Given the description of an element on the screen output the (x, y) to click on. 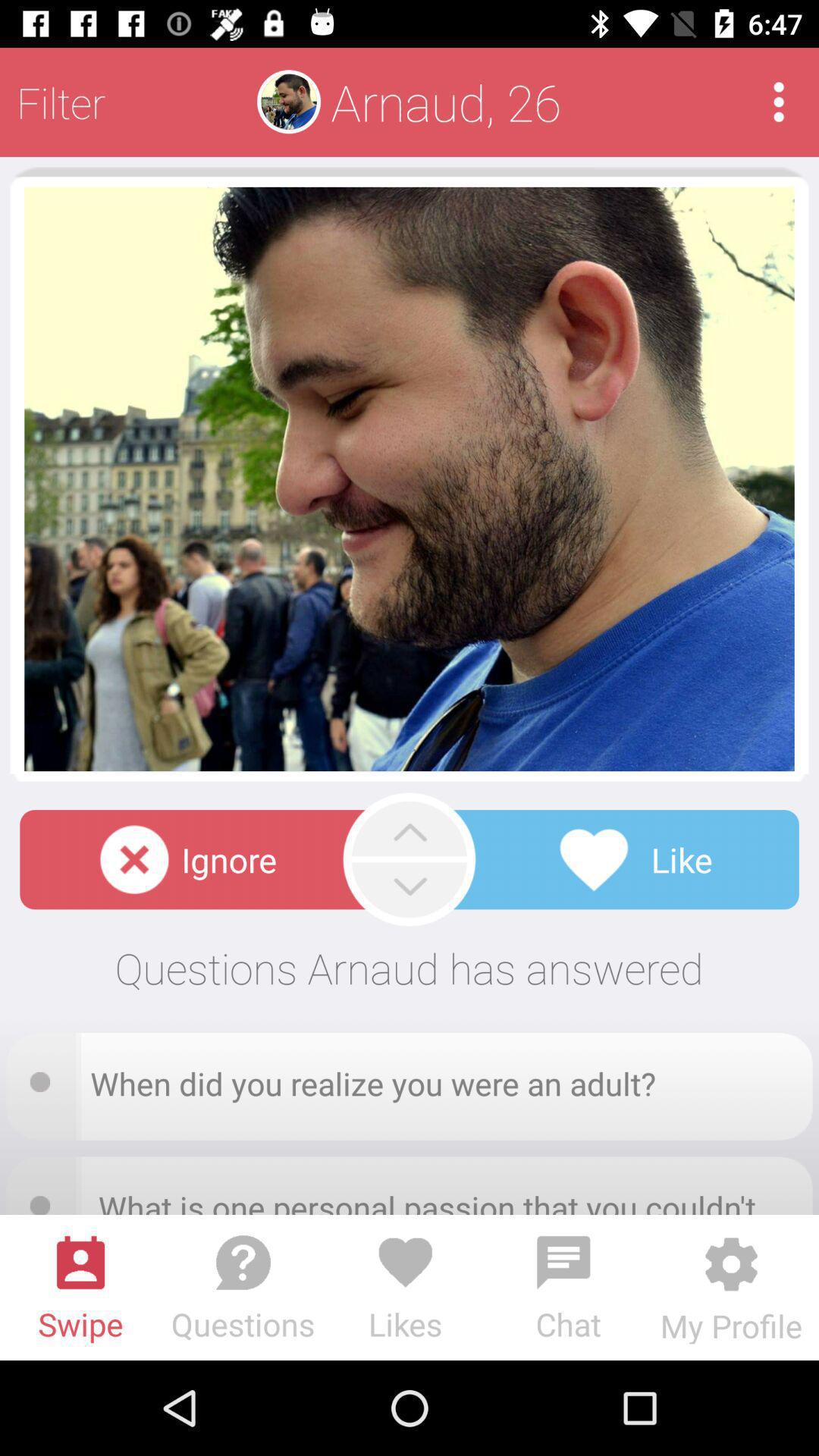
more options (778, 101)
